Given the description of an element on the screen output the (x, y) to click on. 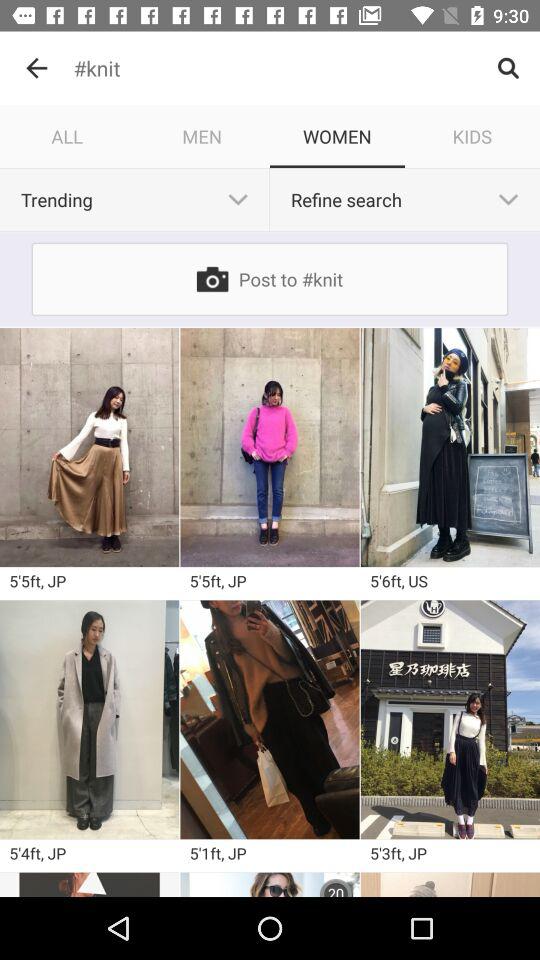
choose this outfit (269, 447)
